Given the description of an element on the screen output the (x, y) to click on. 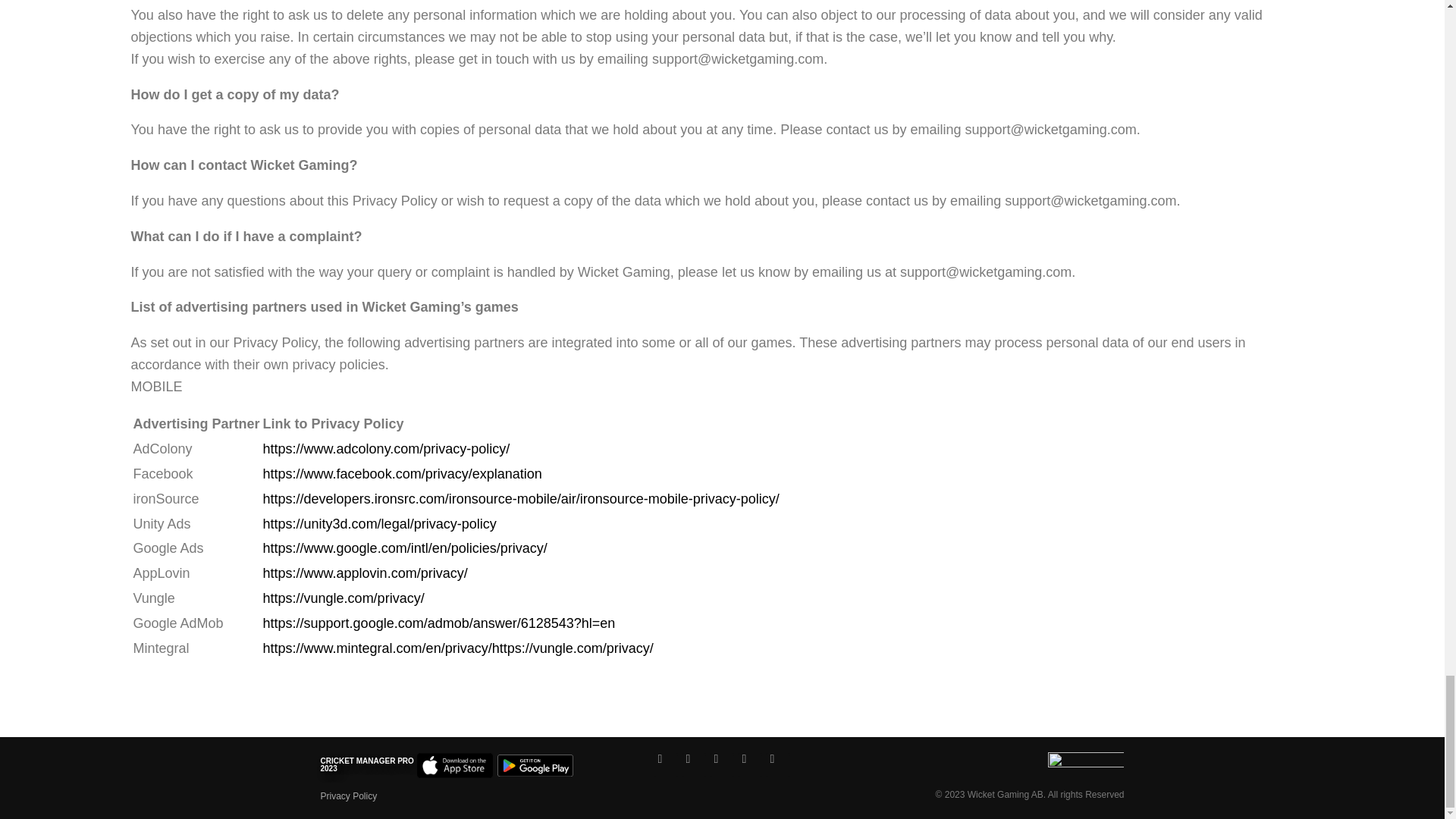
Privacy Policy (348, 795)
